Given the description of an element on the screen output the (x, y) to click on. 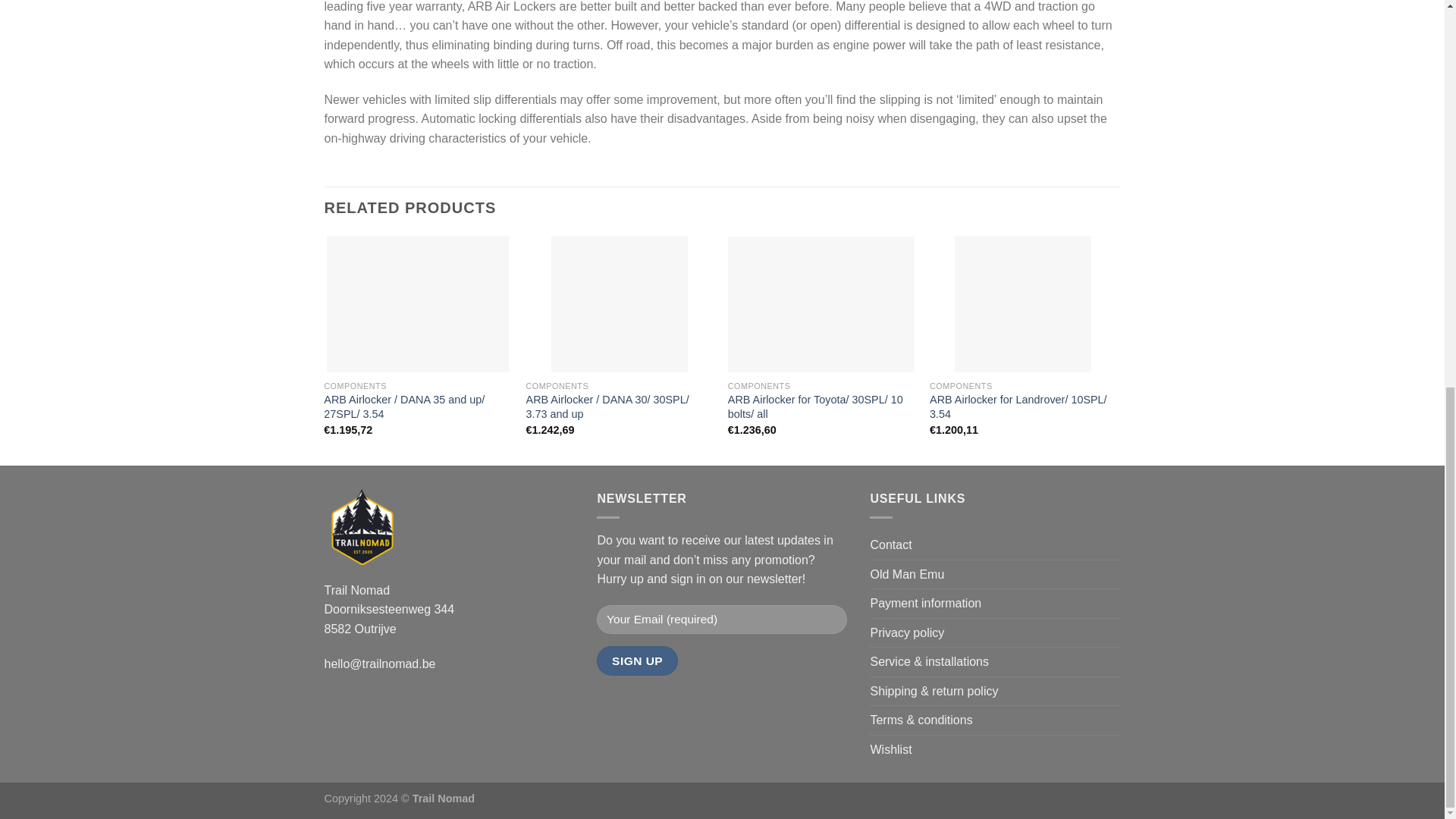
Sign Up (636, 660)
